Given the description of an element on the screen output the (x, y) to click on. 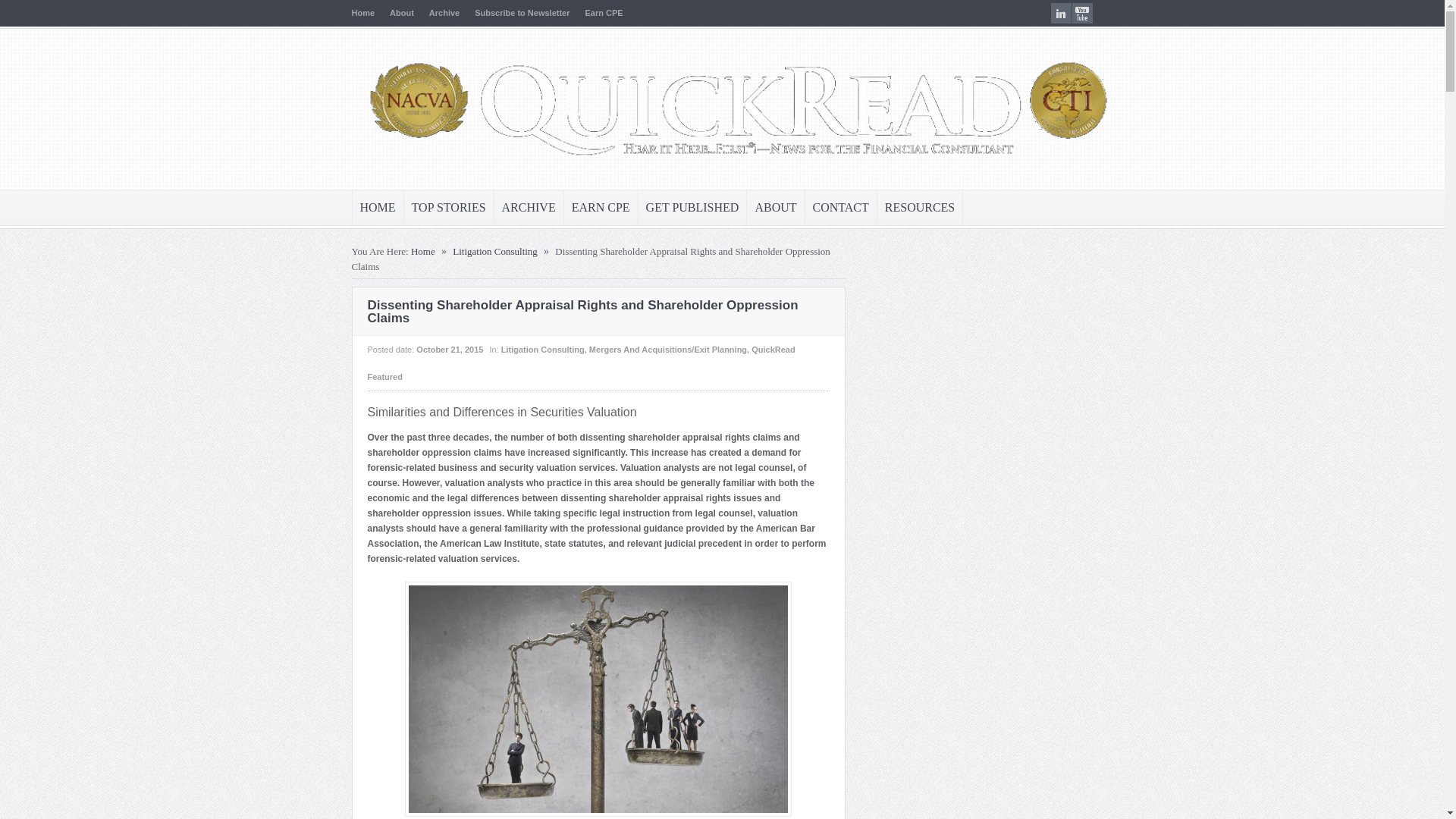
RESOURCES (919, 207)
Earn CPE (604, 12)
Home (363, 12)
ARCHIVE (529, 207)
GET PUBLISHED (692, 207)
CONTACT (840, 207)
ABOUT (774, 207)
Subscribe to Newsletter (521, 12)
youtube (1082, 13)
HOME (377, 207)
Archive (444, 12)
TOP STORIES (448, 207)
Home (422, 251)
LinkedIn (1061, 13)
EARN CPE (600, 207)
